Given the description of an element on the screen output the (x, y) to click on. 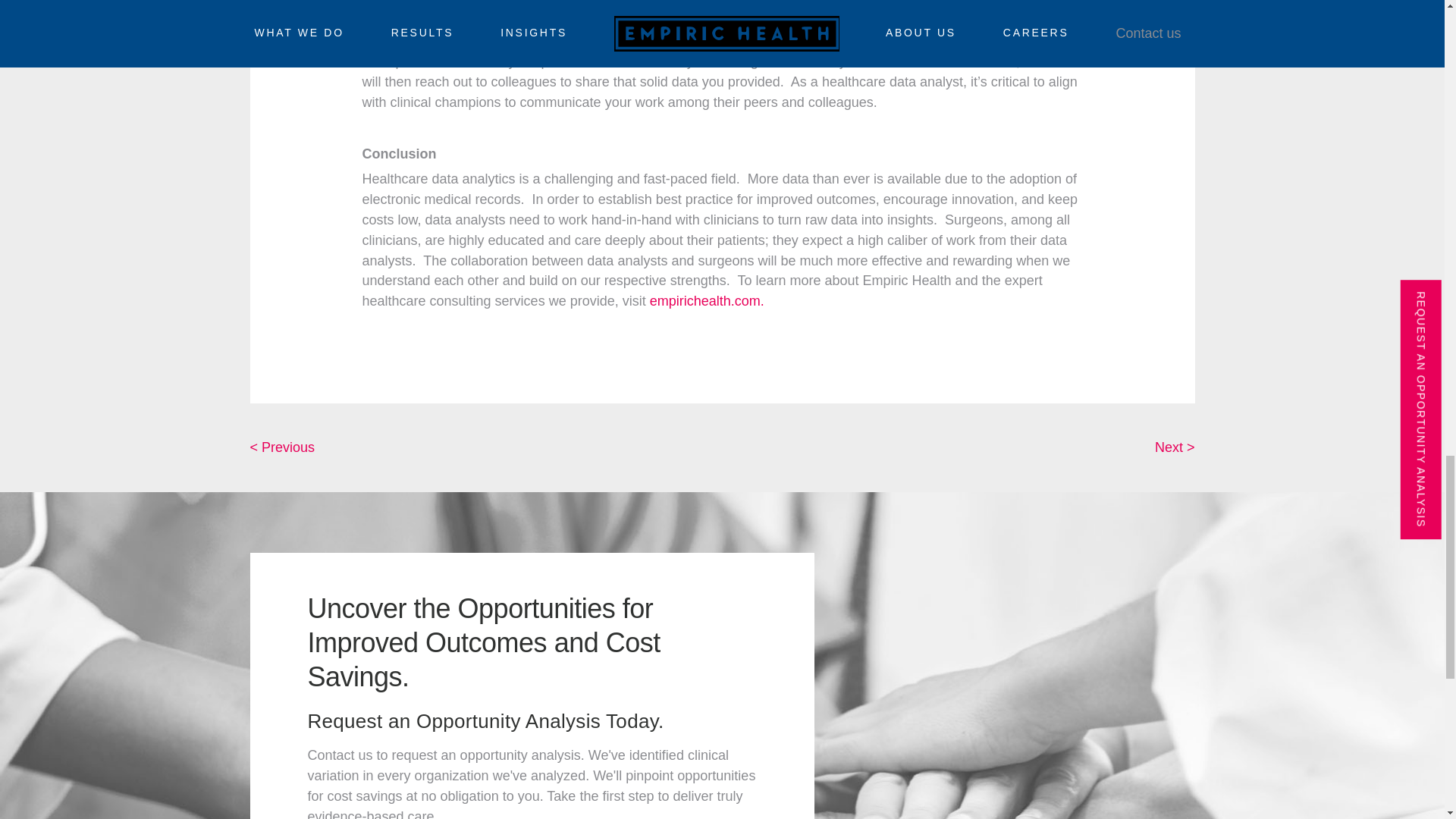
empirichealth.com. (706, 300)
